Given the description of an element on the screen output the (x, y) to click on. 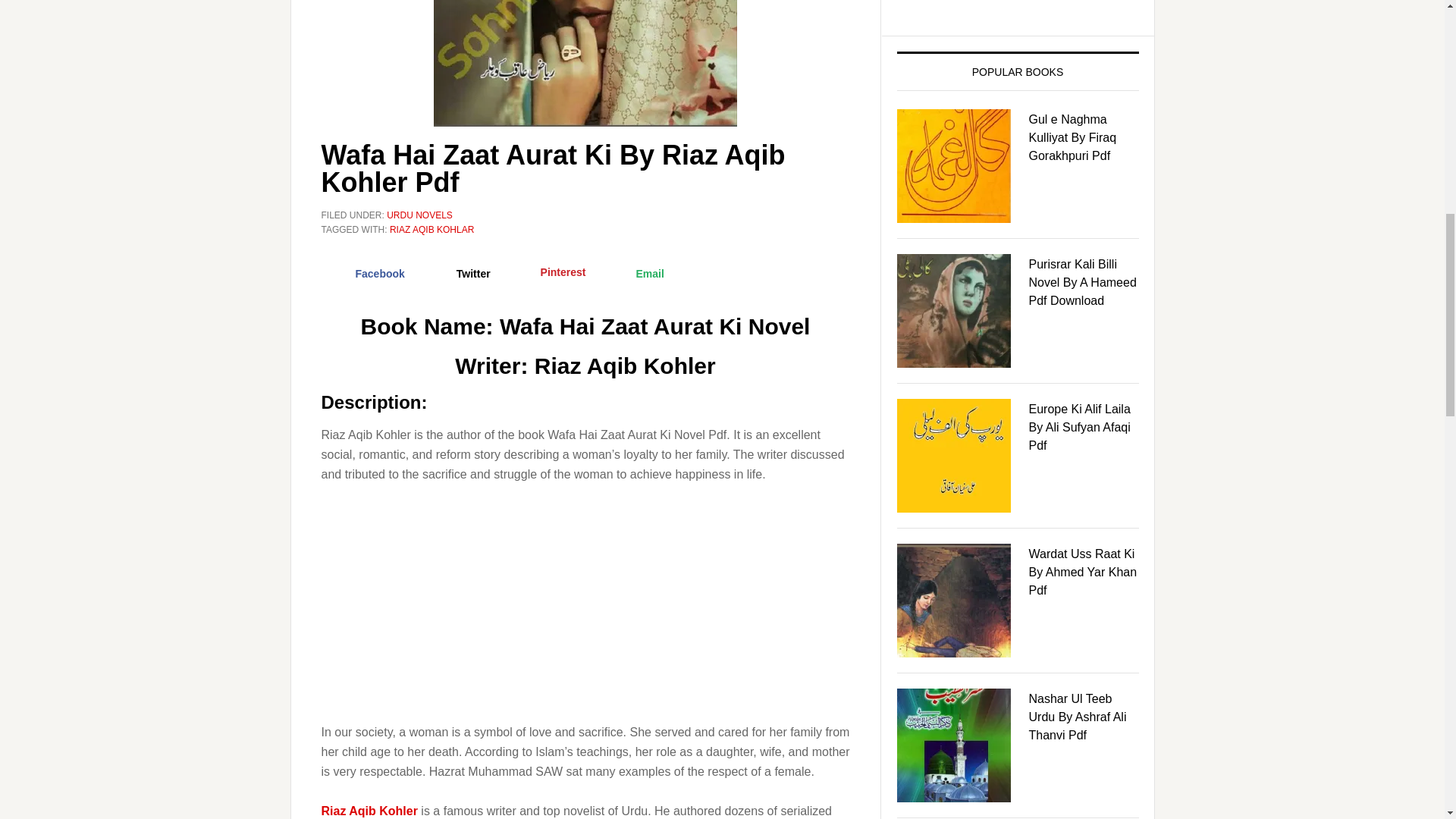
Advertisement (585, 610)
Save to Pinterest (549, 273)
Twitter (459, 273)
URDU NOVELS (419, 214)
Share on Facebook (366, 273)
Email (635, 273)
Pinterest (549, 273)
Share on X (459, 273)
Send over email (635, 273)
RIAZ AQIB KOHLAR (432, 229)
